Given the description of an element on the screen output the (x, y) to click on. 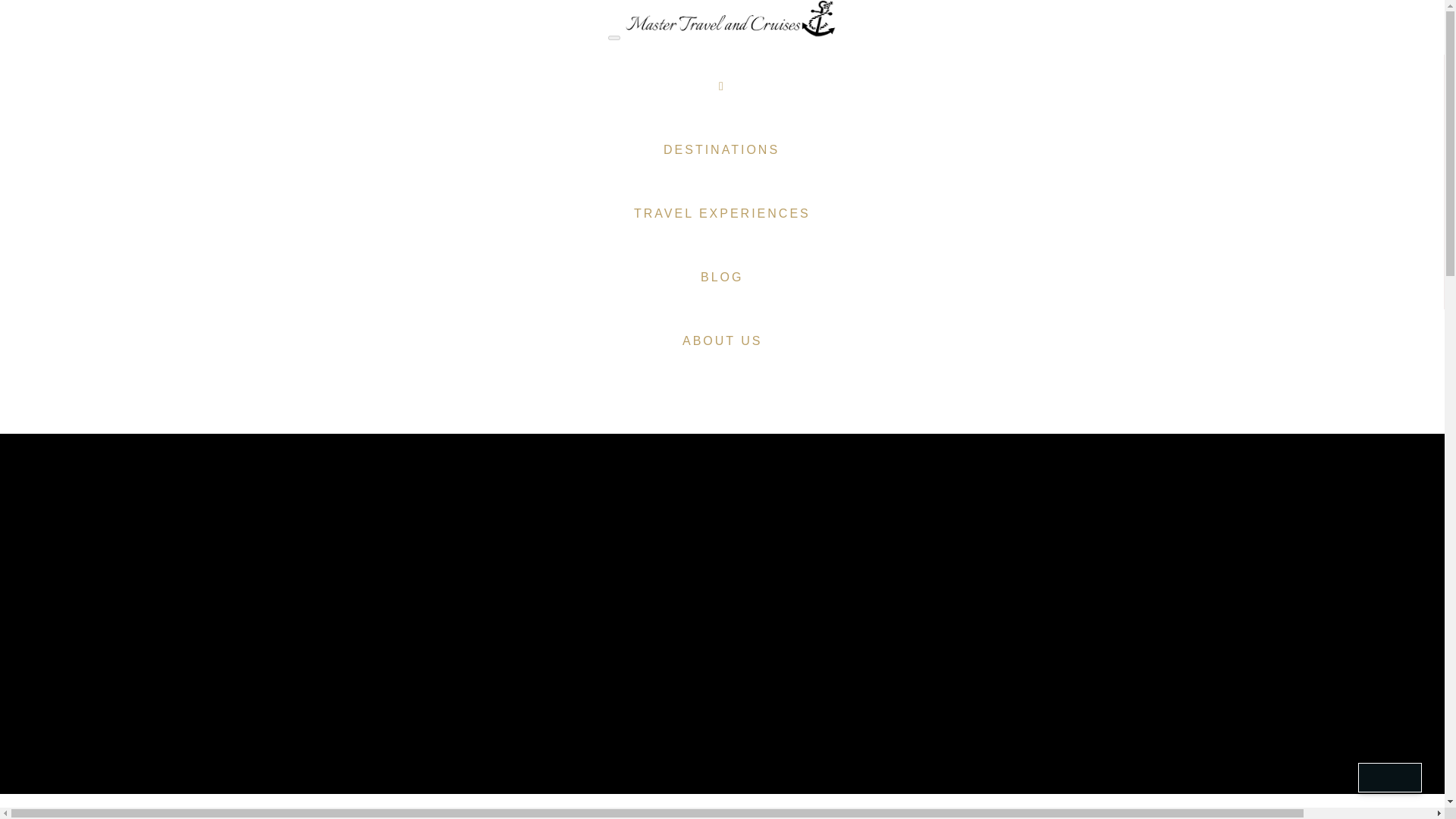
Toggle navigation (614, 38)
BLOG (722, 277)
DESTINATIONS (721, 149)
TRAVEL EXPERIENCES (722, 213)
ABOUT US (721, 341)
